Given the description of an element on the screen output the (x, y) to click on. 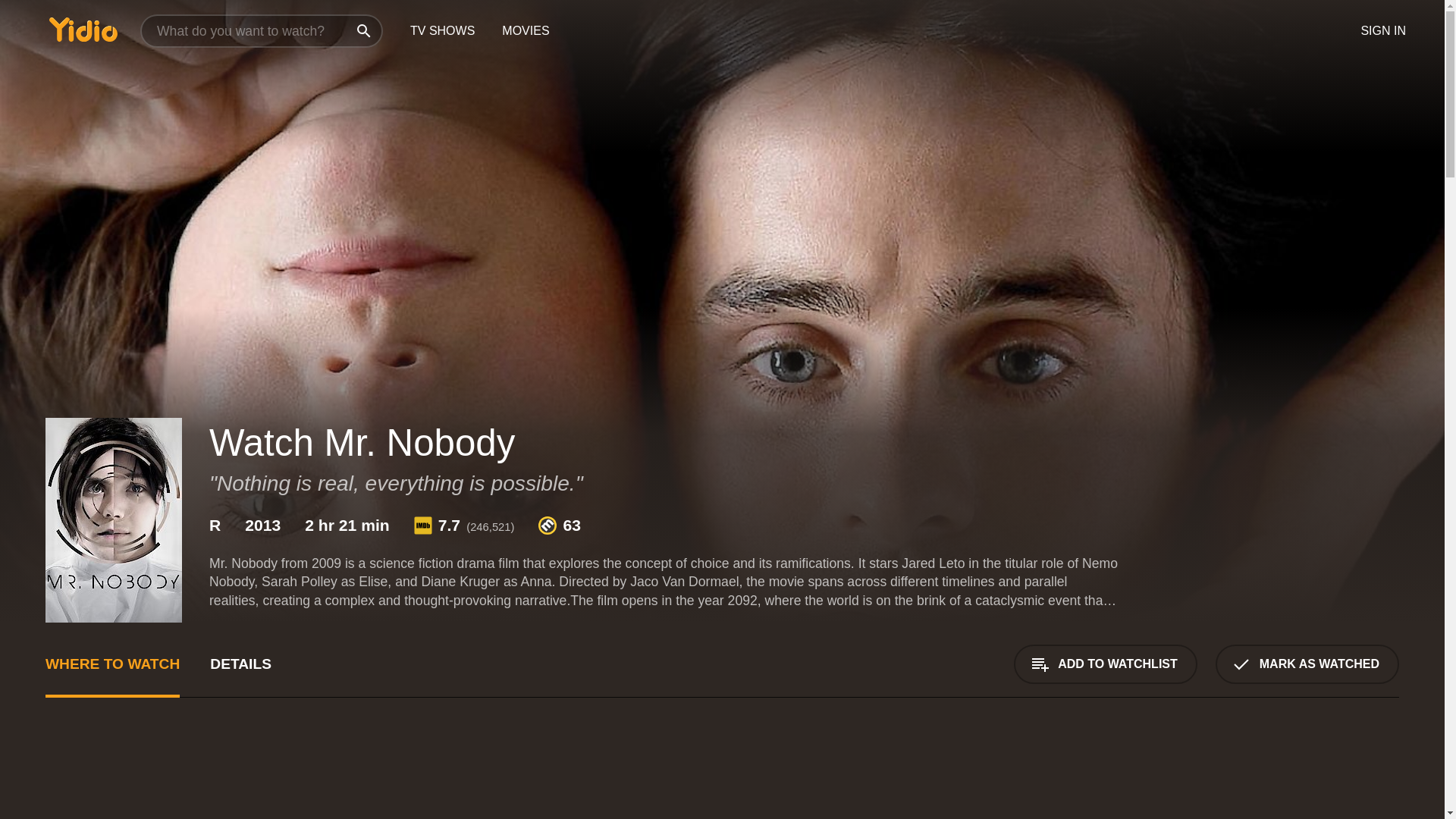
Yidio (82, 29)
MOVIES (524, 31)
ADD TO WATCHLIST (1104, 663)
Advertisement (1285, 776)
TV SHOWS (441, 31)
MARK AS WATCHED (1307, 663)
Advertisement (500, 776)
